Given the description of an element on the screen output the (x, y) to click on. 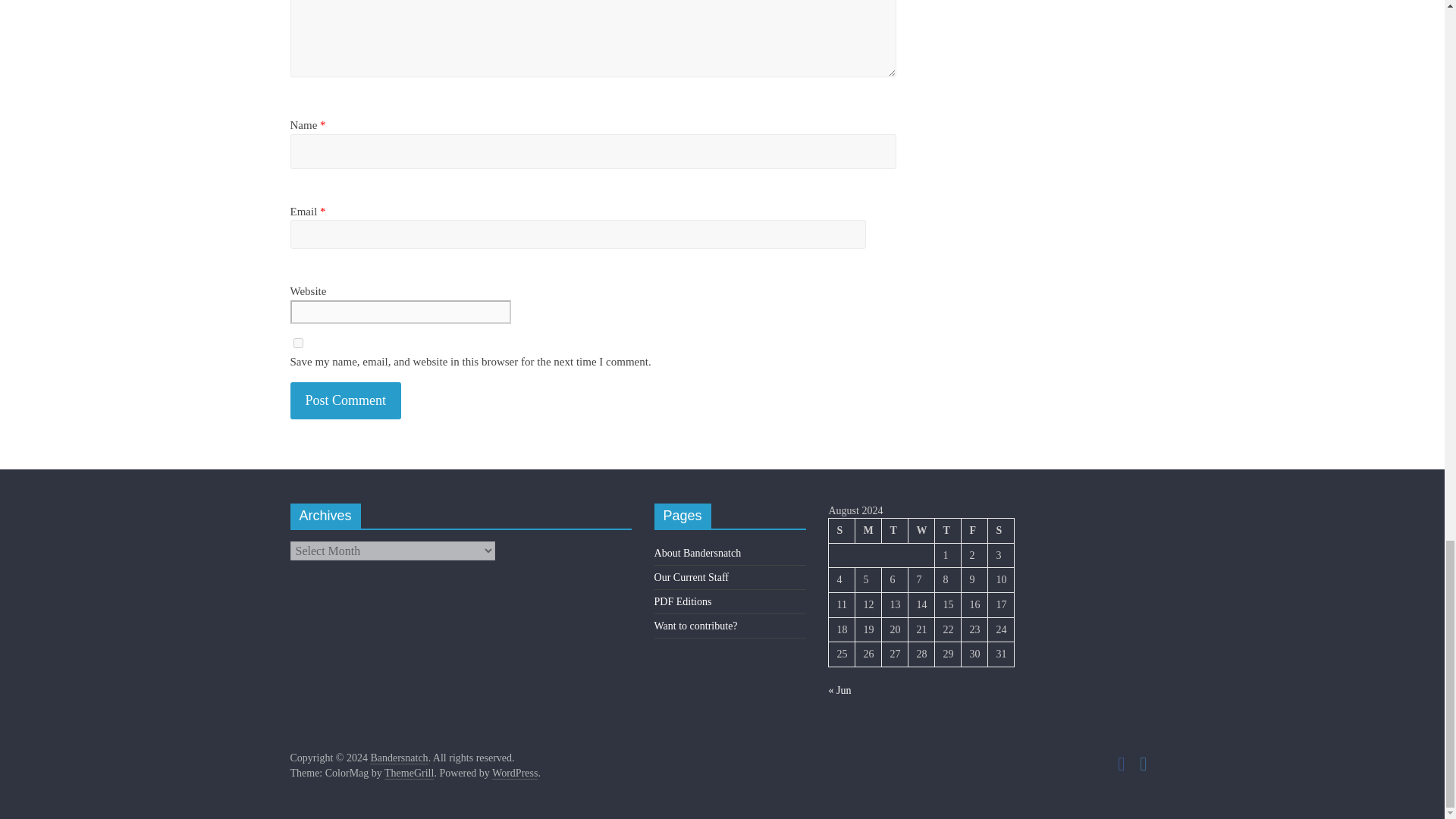
yes (297, 343)
Post Comment (345, 400)
Post Comment (345, 400)
